Given the description of an element on the screen output the (x, y) to click on. 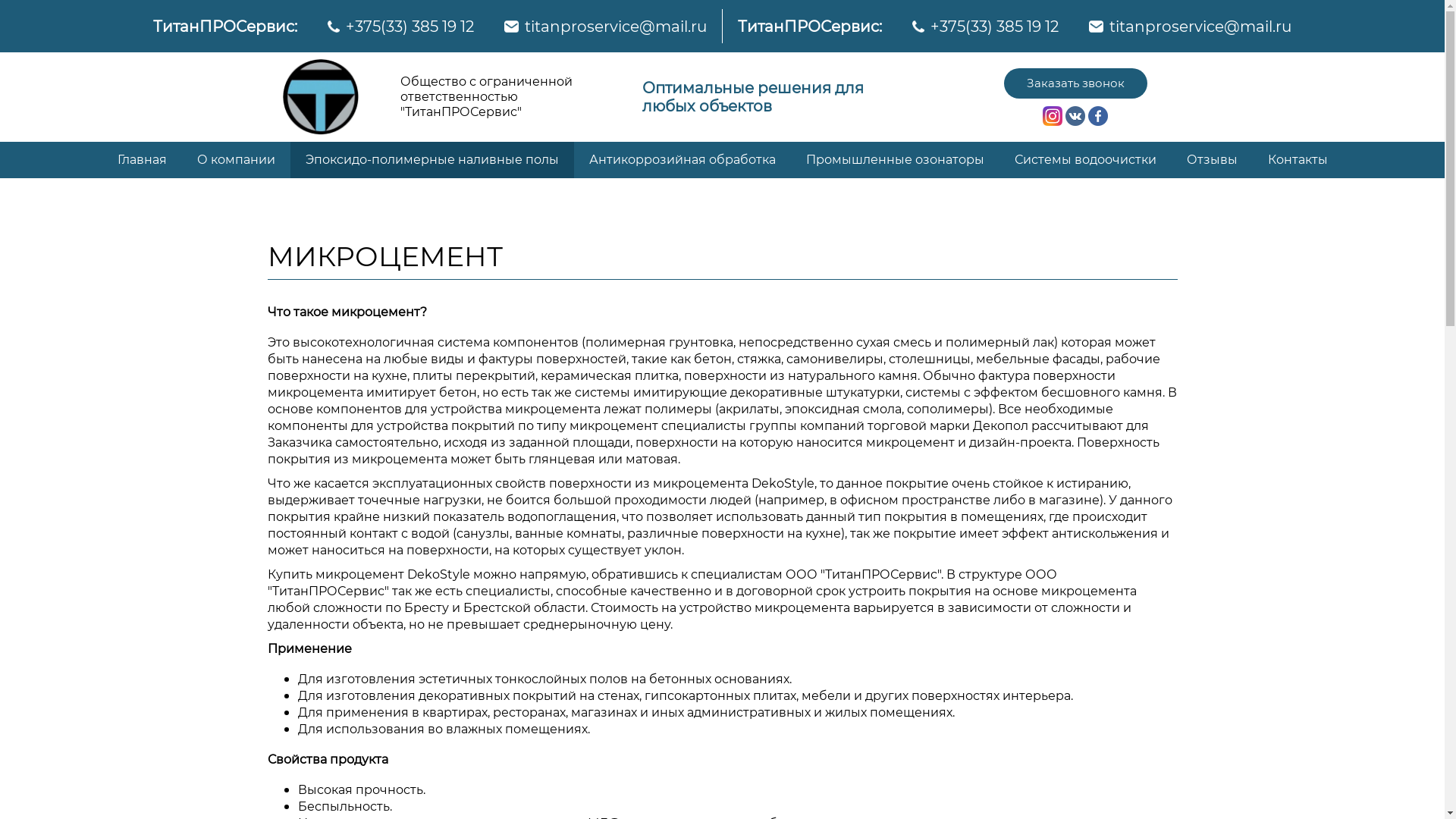
+375(33) 385 19 12 Element type: text (409, 25)
titanproservice@mail.ru Element type: text (615, 25)
+375(33) 385 19 12 Element type: text (994, 25)
titanproservice@mail.ru Element type: text (1200, 25)
